Given the description of an element on the screen output the (x, y) to click on. 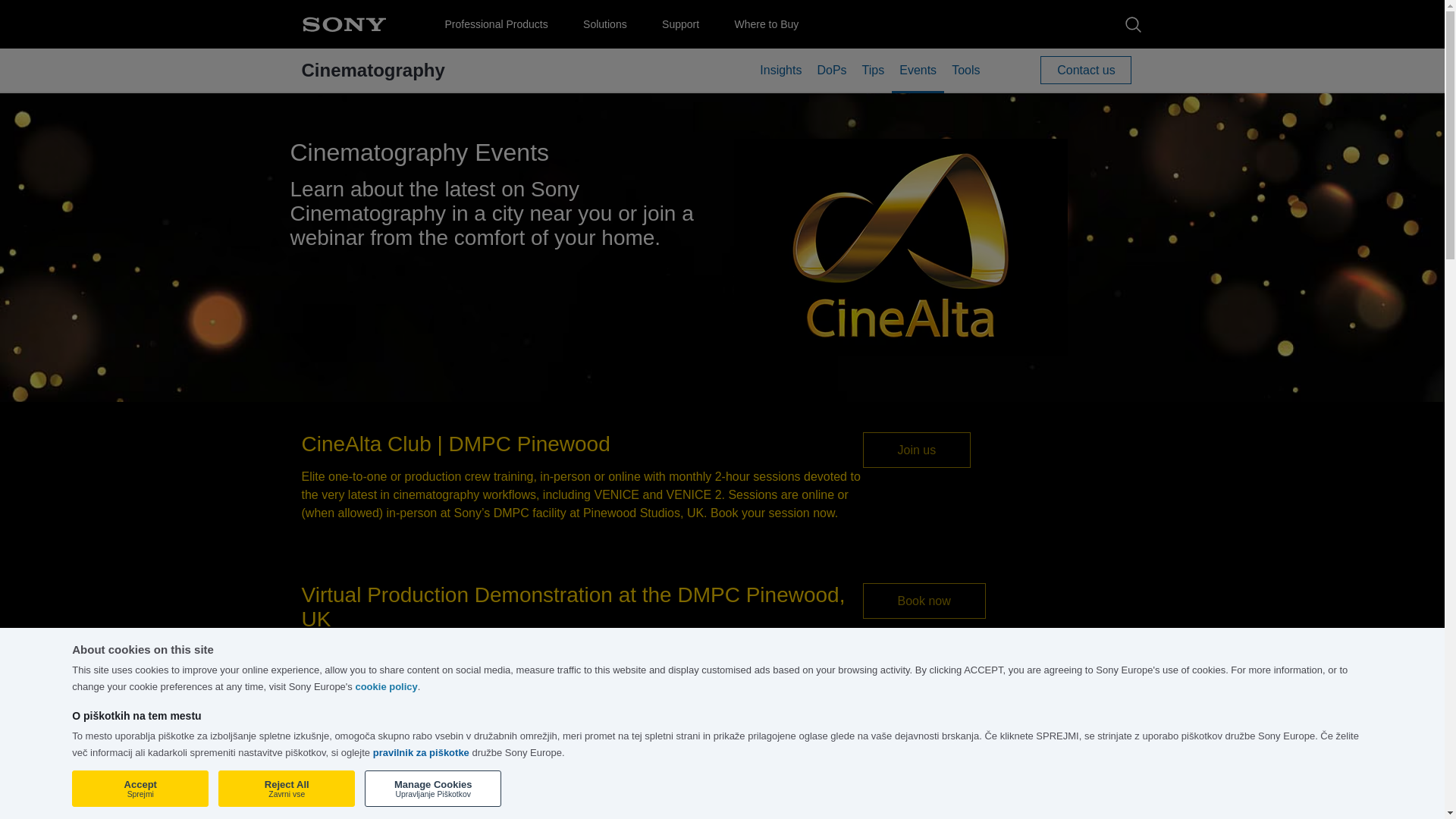
Tools (965, 76)
Professional Products (495, 26)
Cinematography (373, 68)
Book now (924, 601)
Watch now (927, 775)
Solutions (605, 26)
Insights (780, 76)
Tips (873, 76)
Events (917, 78)
DoPs (831, 76)
